Given the description of an element on the screen output the (x, y) to click on. 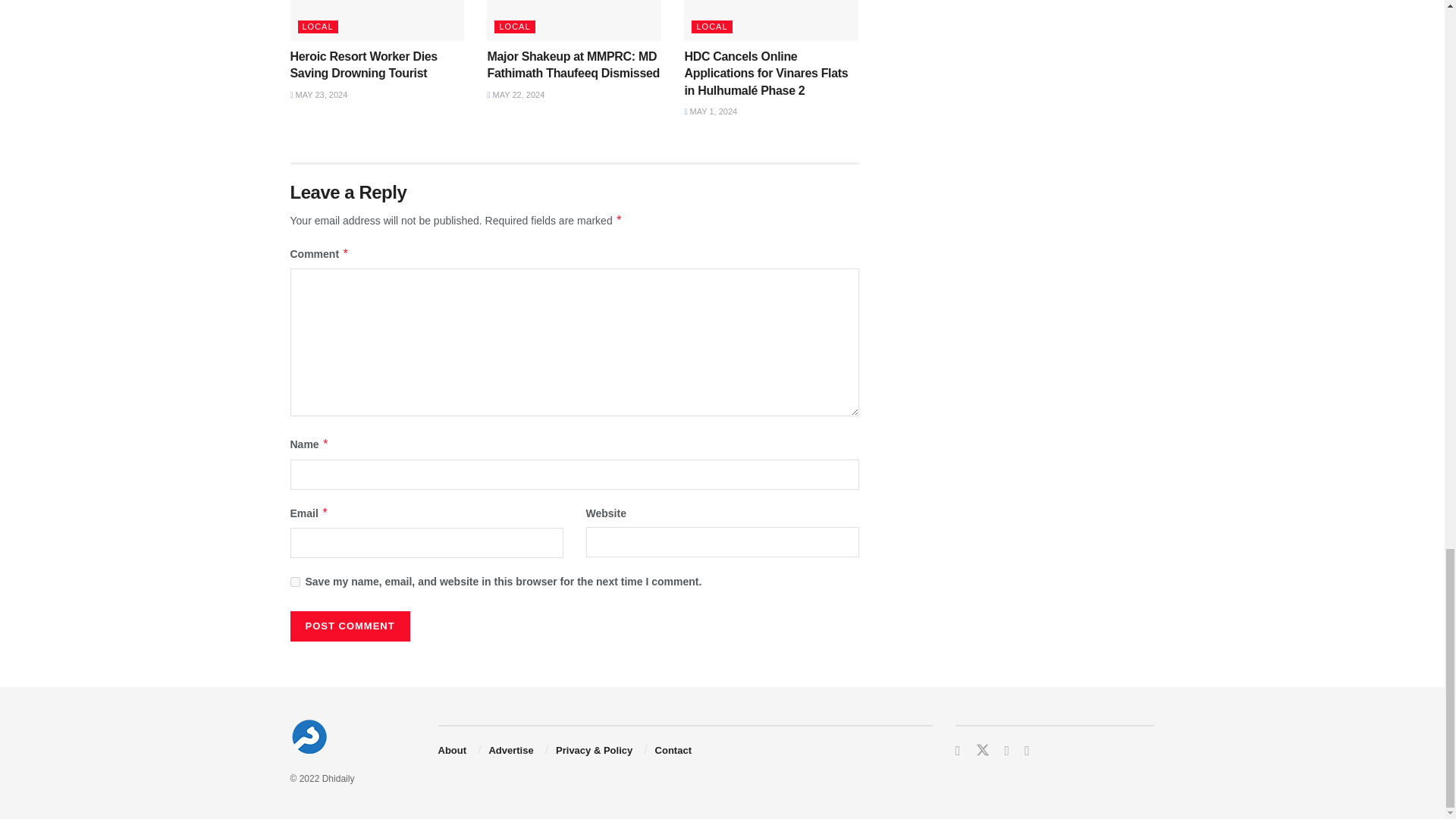
Post Comment (349, 625)
yes (294, 582)
